Given the description of an element on the screen output the (x, y) to click on. 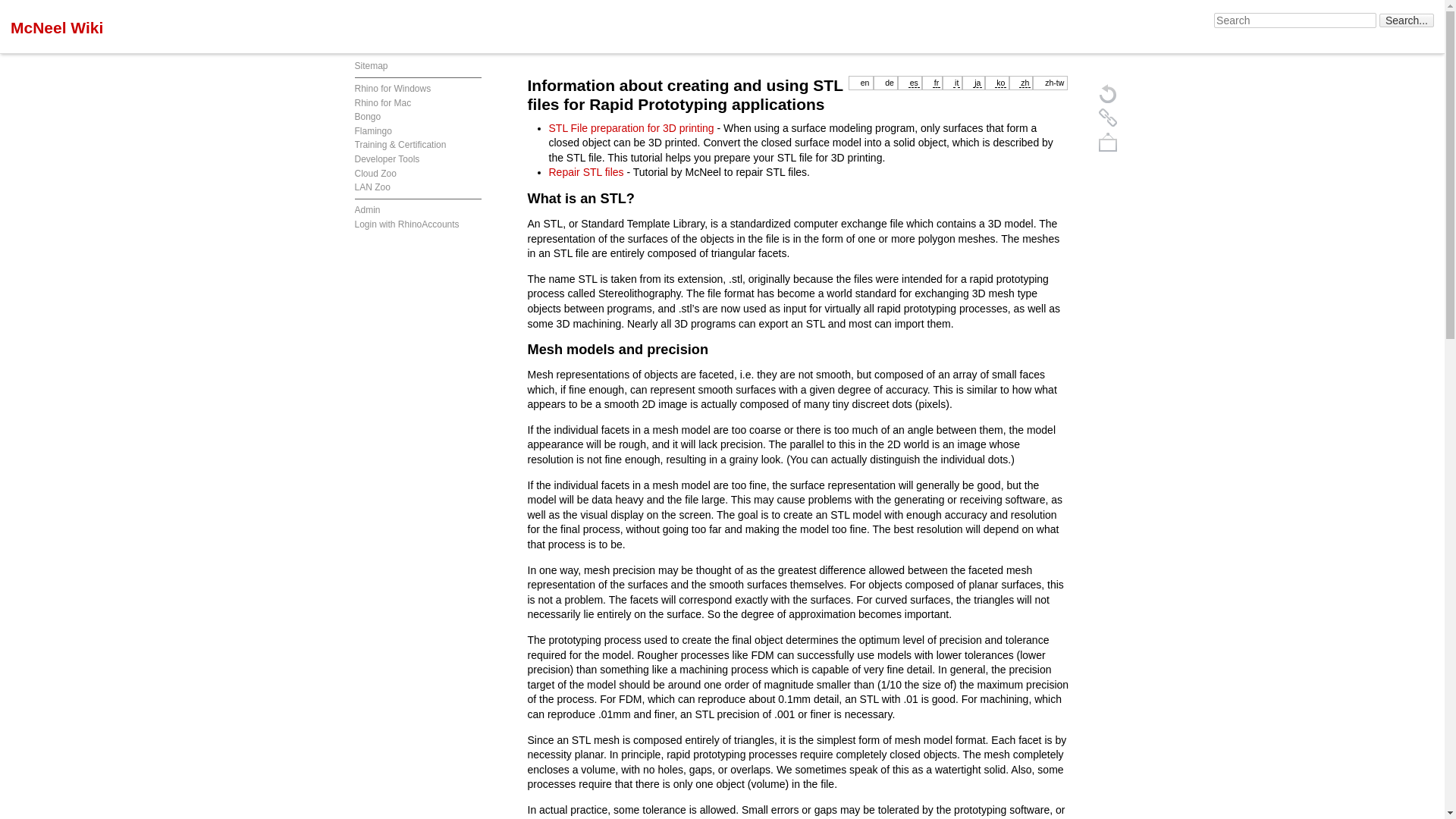
LAN Zoo (372, 186)
Cloud Zoo (375, 173)
Search... (1406, 20)
en (864, 81)
Search... (1406, 20)
zh-tw (1054, 81)
rhino:home (392, 88)
Flamingo (373, 131)
Sitemap (371, 65)
Search... (1406, 20)
